Given the description of an element on the screen output the (x, y) to click on. 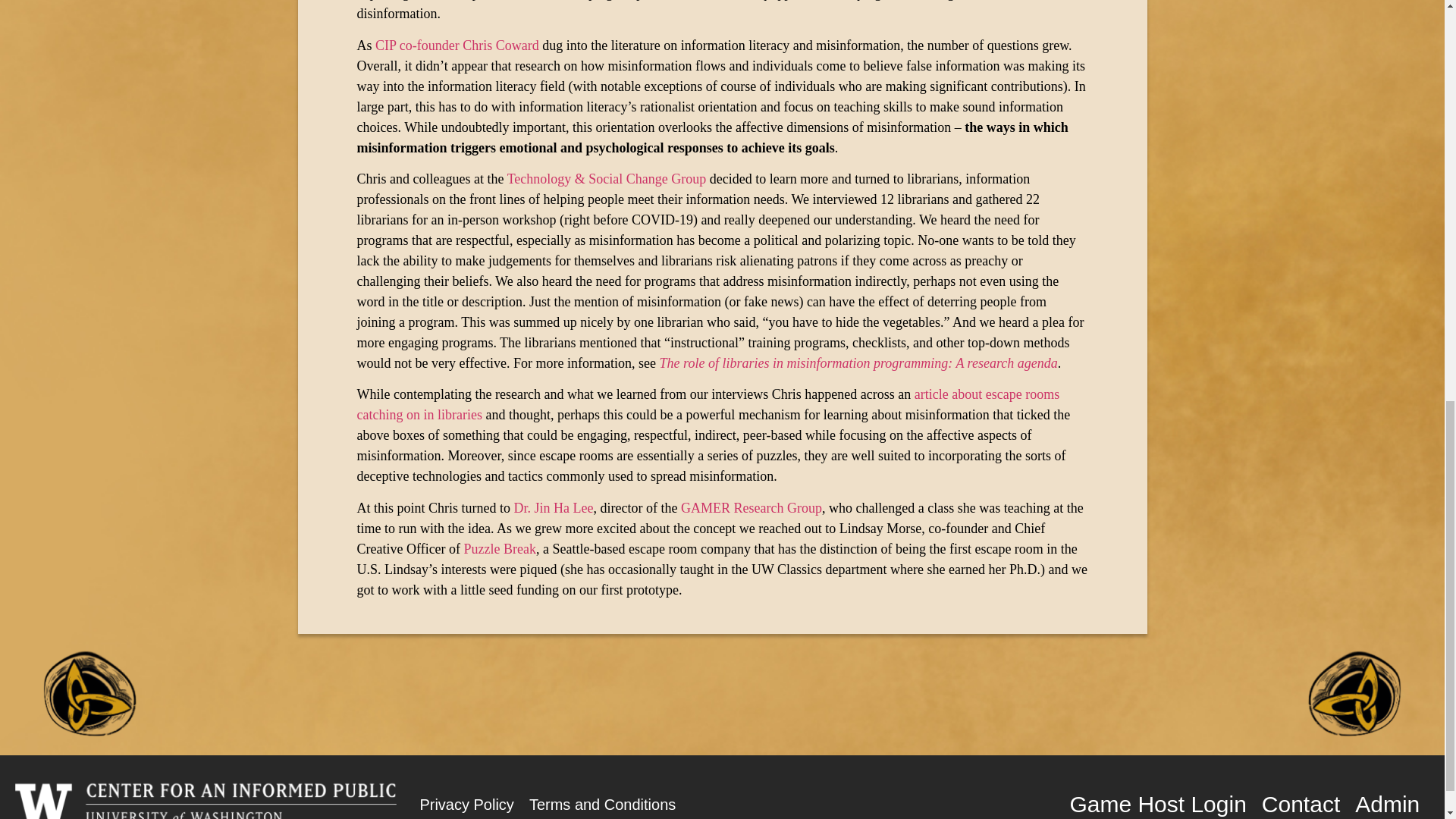
Dr. Jin Ha Lee (553, 507)
article about escape rooms catching on in libraries (707, 404)
GAMER Research Group (751, 507)
Puzzle Break (499, 548)
CIP co-founder Chris Coward (456, 45)
Game Host Login (1157, 803)
Privacy Policy (466, 803)
Terms and Conditions (601, 803)
Contact (1300, 803)
Admin (1387, 803)
